Given the description of an element on the screen output the (x, y) to click on. 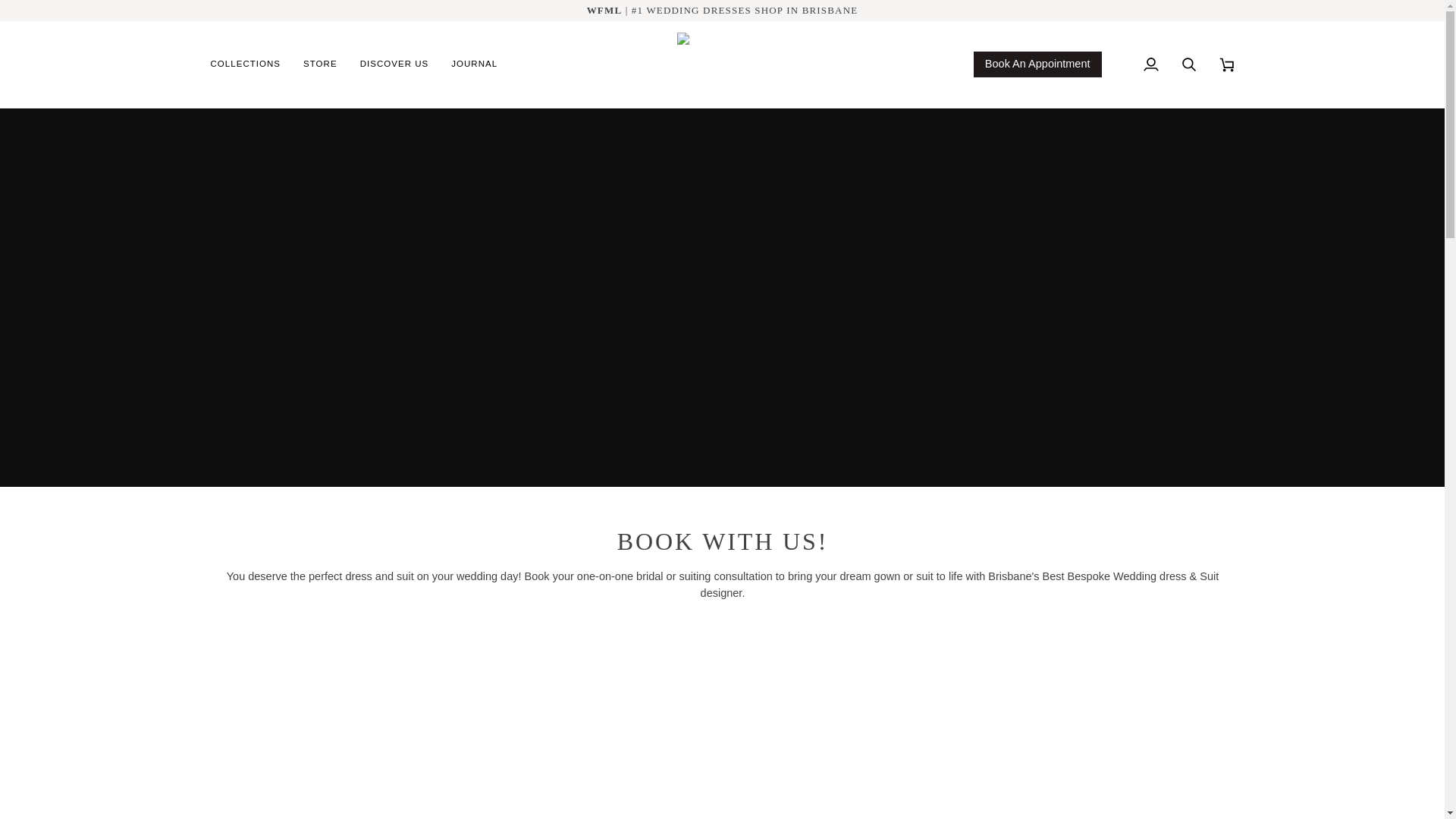
COLLECTIONS (251, 64)
DISCOVER US (395, 64)
Book An Appointment (1038, 63)
